Given the description of an element on the screen output the (x, y) to click on. 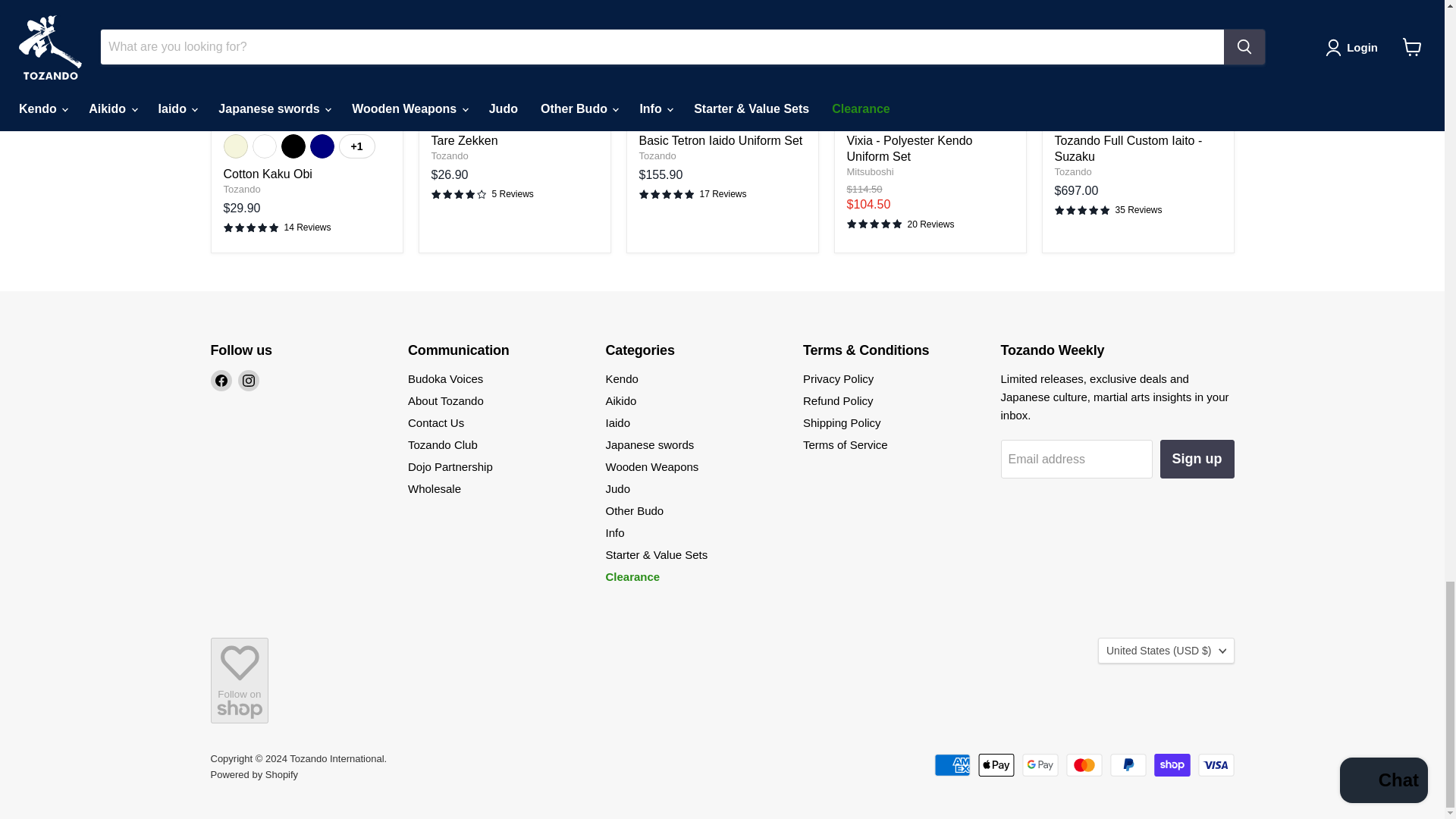
Tozando (448, 155)
Tozando (241, 188)
Tozando (1072, 171)
Mitsuboshi (869, 171)
Facebook (221, 380)
Tozando (657, 155)
Instagram (248, 380)
